Given the description of an element on the screen output the (x, y) to click on. 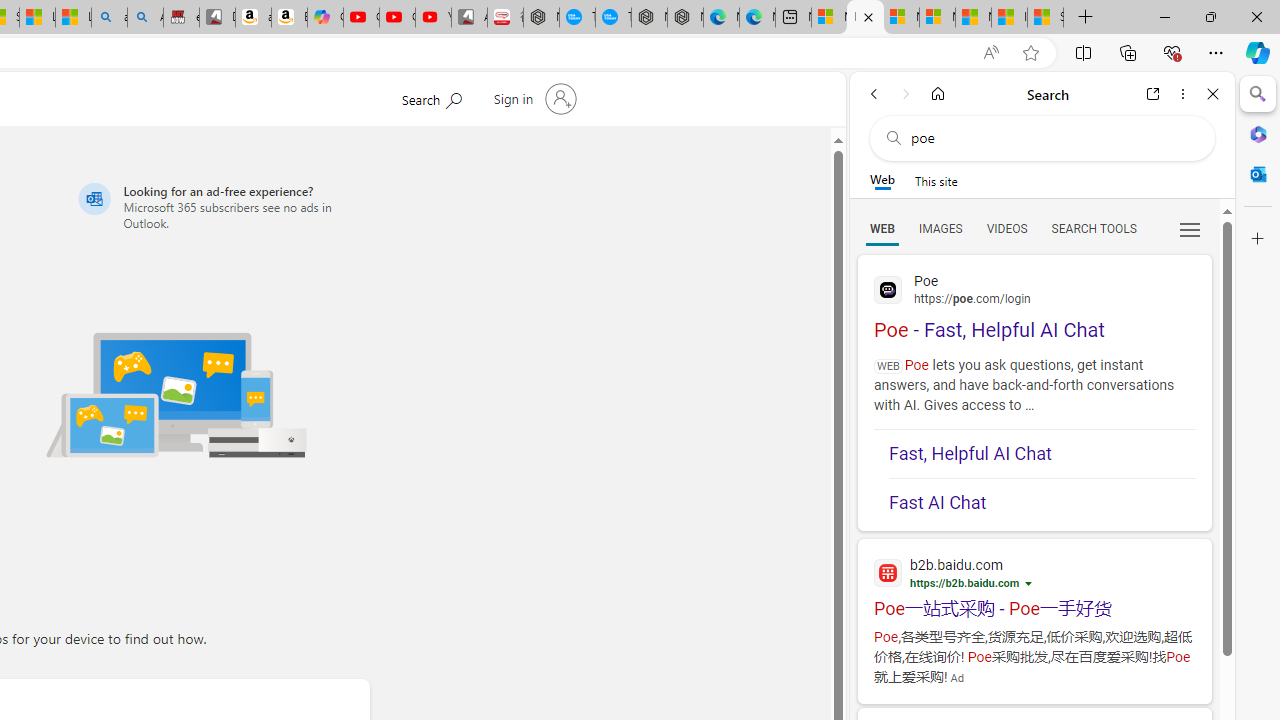
All Cubot phones (469, 17)
Fast, Helpful AI Chat (1042, 453)
This site scope (936, 180)
Poe (1034, 288)
Global web icon (888, 290)
Poe - Fast, Helpful AI Chat (1034, 304)
I Gained 20 Pounds of Muscle in 30 Days! | Watch (1009, 17)
